Given the description of an element on the screen output the (x, y) to click on. 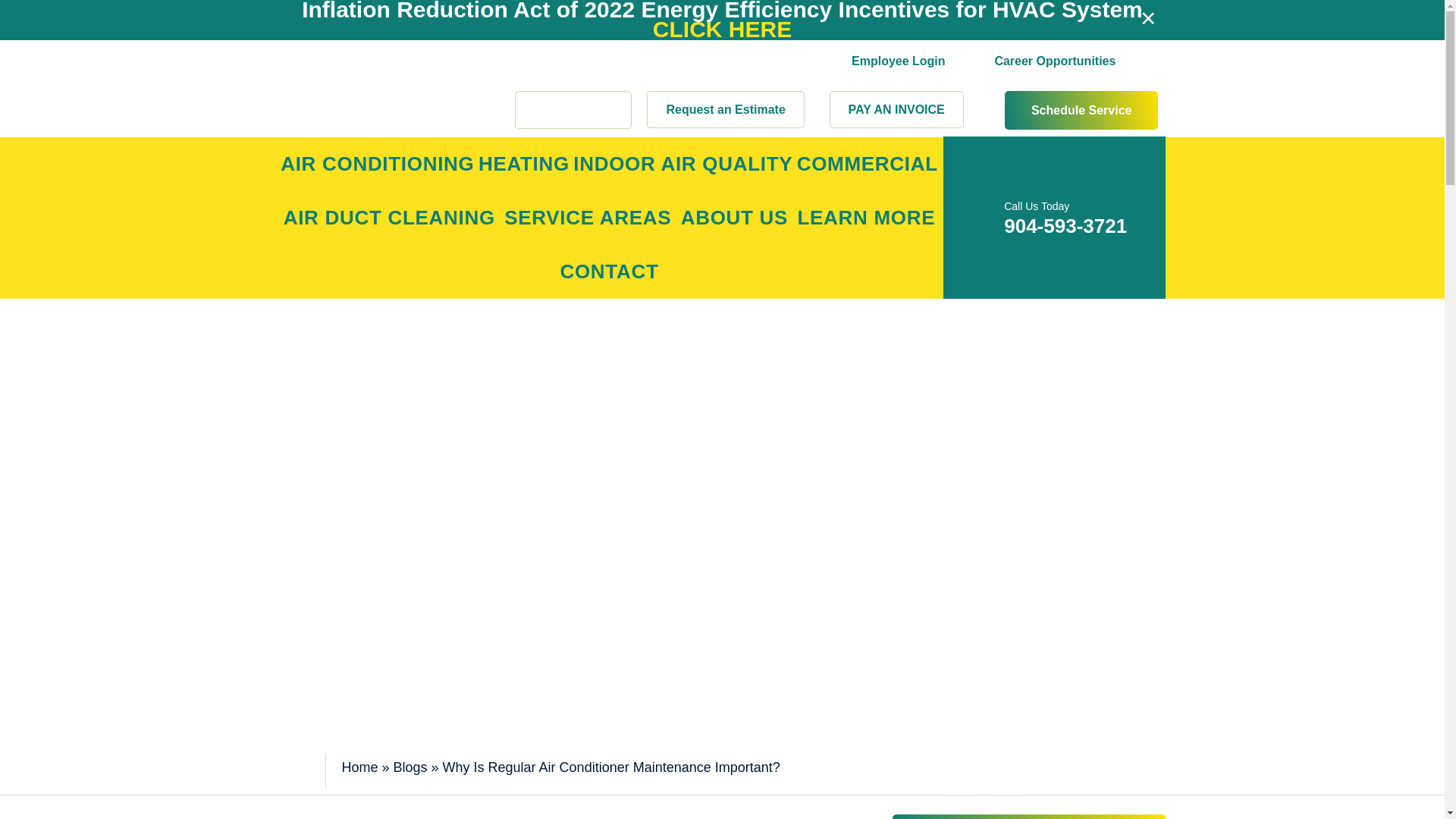
INDOOR AIR QUALITY (683, 163)
Schedule Service (1081, 109)
Career Opportunities (1054, 24)
PAY AN INVOICE (896, 108)
CLICK HERE (722, 28)
HEATING (523, 163)
Request an Estimate (724, 108)
Employee Login (897, 23)
AIR CONDITIONING (378, 163)
